Given the description of an element on the screen output the (x, y) to click on. 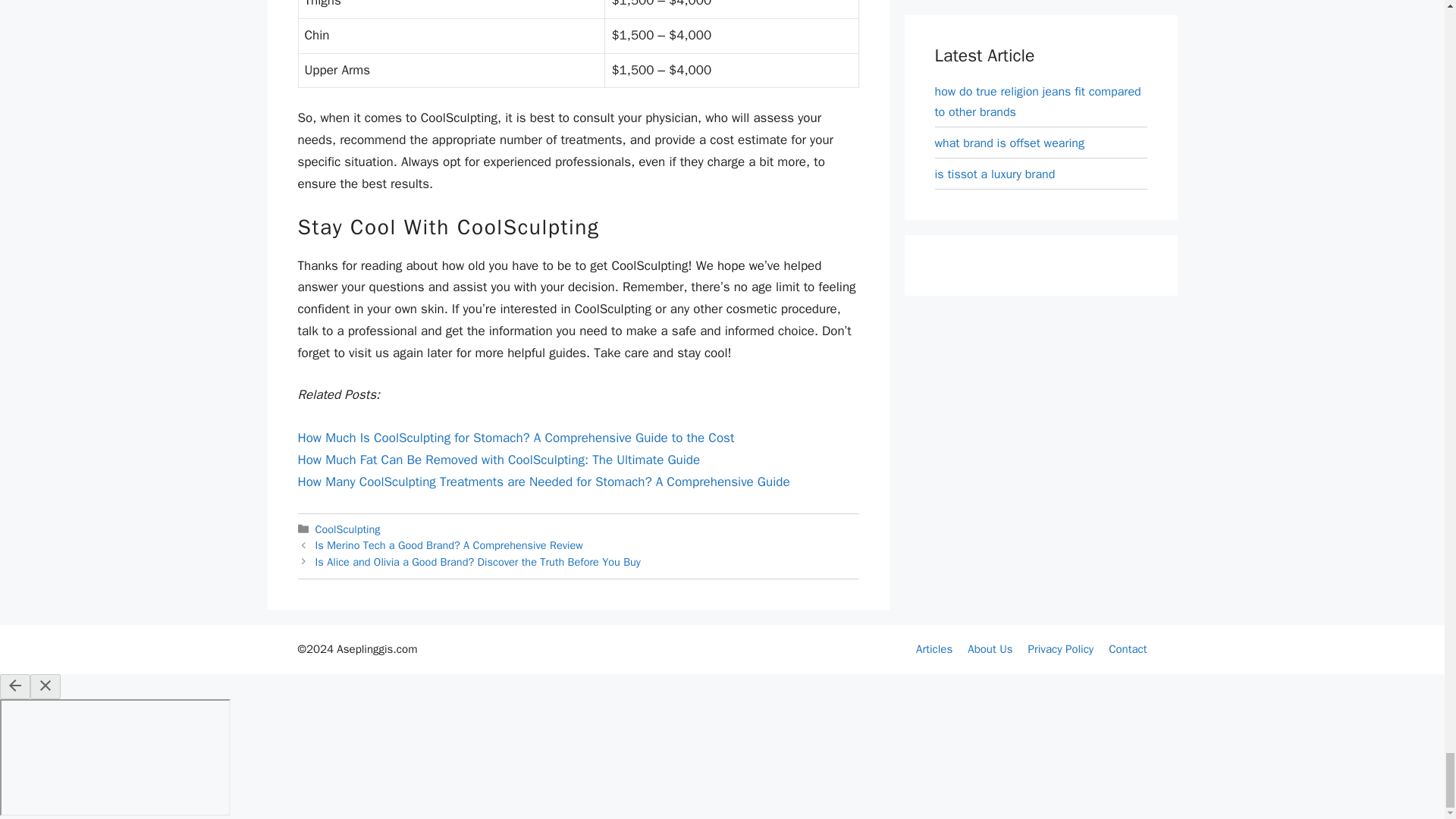
Is Merino Tech a Good Brand? A Comprehensive Review (449, 545)
Articles (933, 649)
CoolSculpting (347, 529)
Contact (1127, 649)
About Us (989, 649)
Privacy Policy (1060, 649)
